Given the description of an element on the screen output the (x, y) to click on. 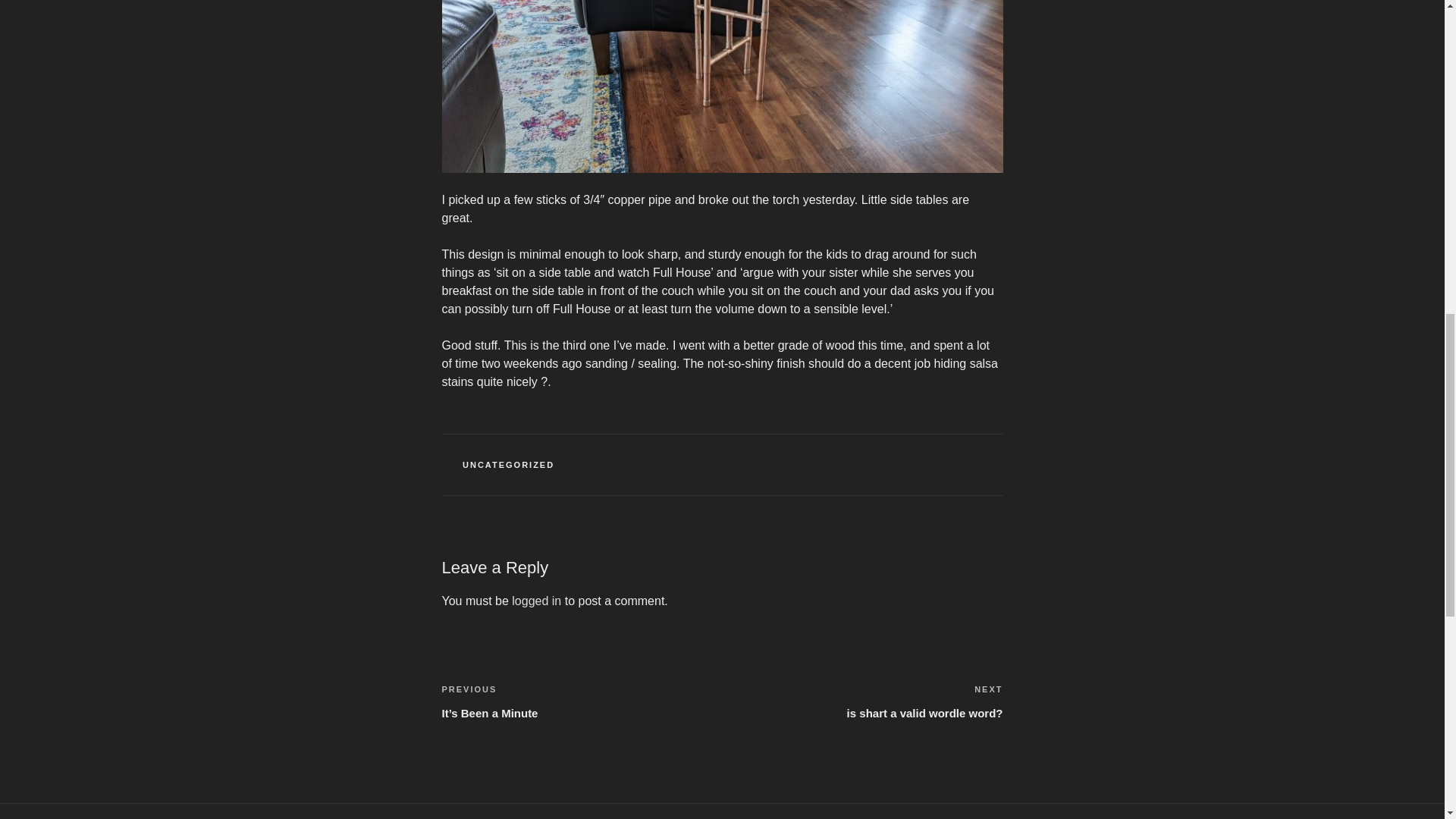
logged in (536, 600)
UNCATEGORIZED (508, 464)
